Given the description of an element on the screen output the (x, y) to click on. 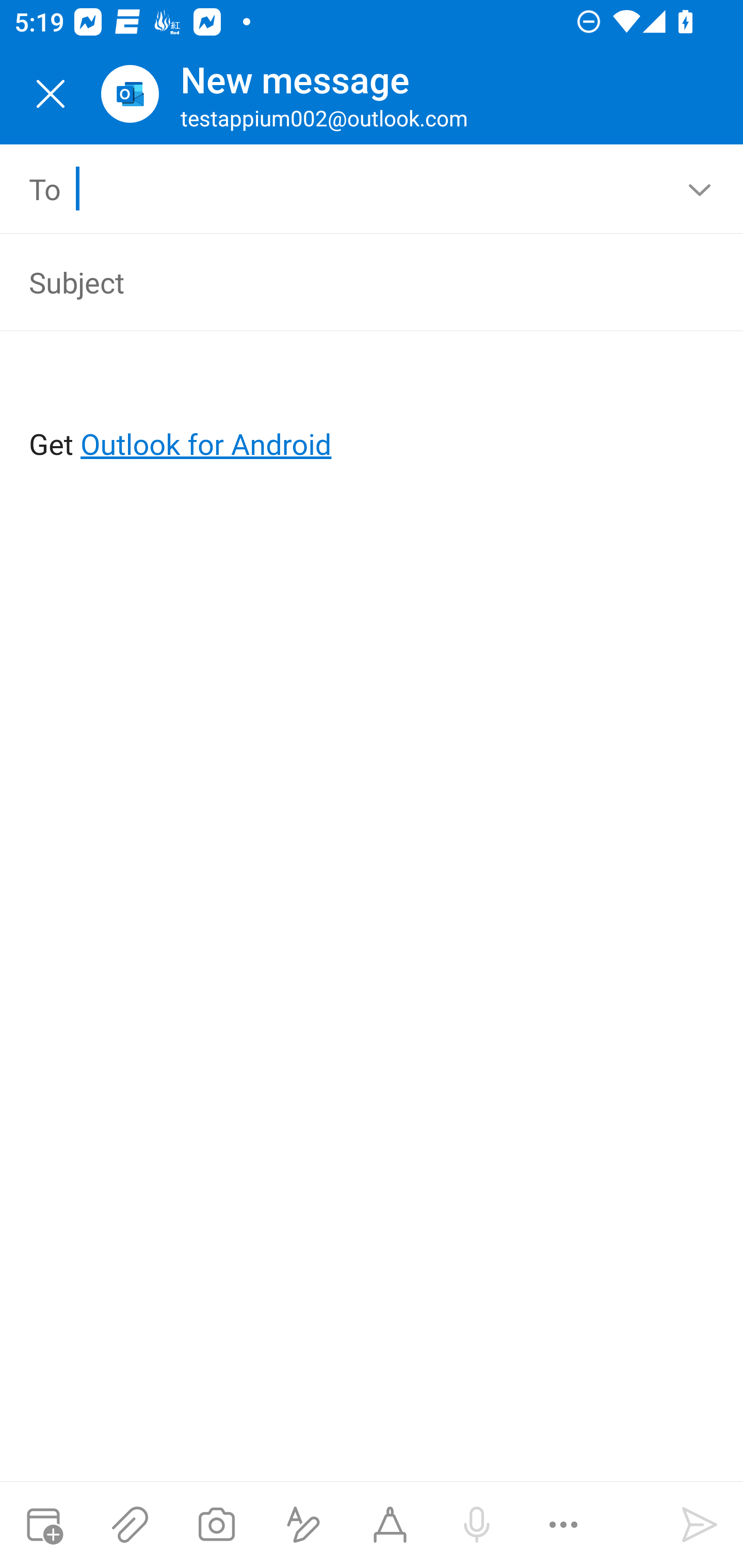
Close (50, 93)
Subject (342, 281)


Get Outlook for Android (372, 411)
Attach meeting (43, 1524)
Attach files (129, 1524)
Take a photo (216, 1524)
Show formatting options (303, 1524)
Start Ink compose (389, 1524)
More options (563, 1524)
Send (699, 1524)
